Given the description of an element on the screen output the (x, y) to click on. 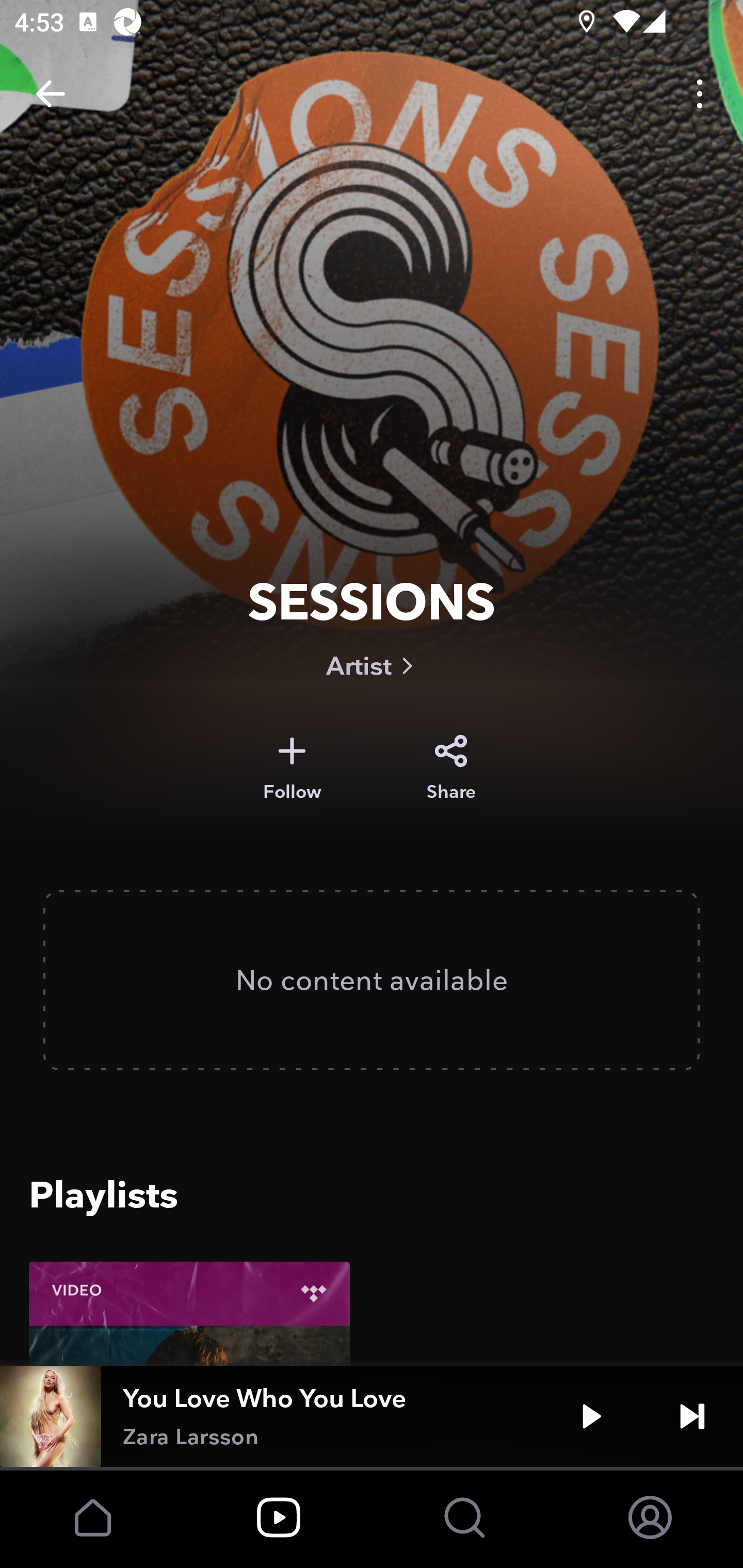
Options (699, 93)
Artist (371, 665)
Follow (291, 767)
Share (450, 767)
You Love Who You Love Zara Larsson Play (371, 1416)
Play (590, 1416)
